Given the description of an element on the screen output the (x, y) to click on. 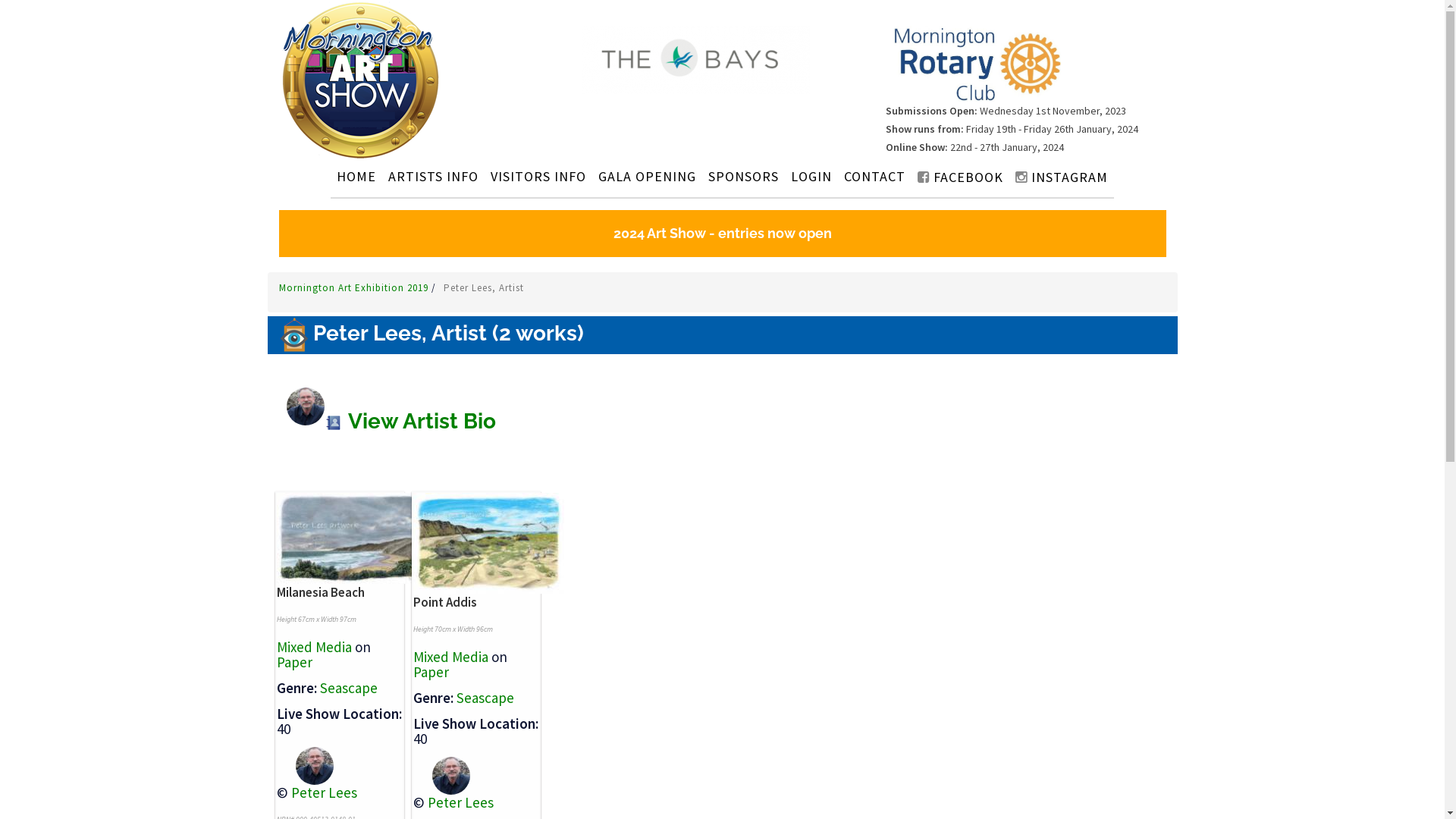
FACEBOOK Element type: text (960, 177)
Mixed Media Element type: text (313, 646)
Point Addis Element type: text (444, 601)
Milanesia Beach Element type: text (320, 591)
LOGIN Element type: text (811, 176)
Seascape Element type: text (348, 687)
View all works by Peter Lees Element type: hover (440, 774)
Peter Lees Element type: text (324, 792)
View all works by Peter Lees Element type: hover (304, 764)
ARTISTS INFO Element type: text (433, 176)
VISITORS INFO Element type: text (537, 176)
SPONSORS Element type: text (743, 176)
Peter Lees Element type: text (460, 802)
2024 Art Show - entries now open Element type: text (722, 233)
Mixed Media Element type: text (449, 656)
GALA OPENING Element type: text (646, 176)
View Artist Bio Element type: text (409, 420)
Seascape Element type: text (485, 697)
HOME Element type: text (355, 176)
Mornington Art Exhibition 2019 Element type: text (355, 287)
CONTACT Element type: text (874, 176)
Paper Element type: text (293, 661)
Paper Element type: text (430, 671)
INSTAGRAM Element type: text (1061, 177)
